Given the description of an element on the screen output the (x, y) to click on. 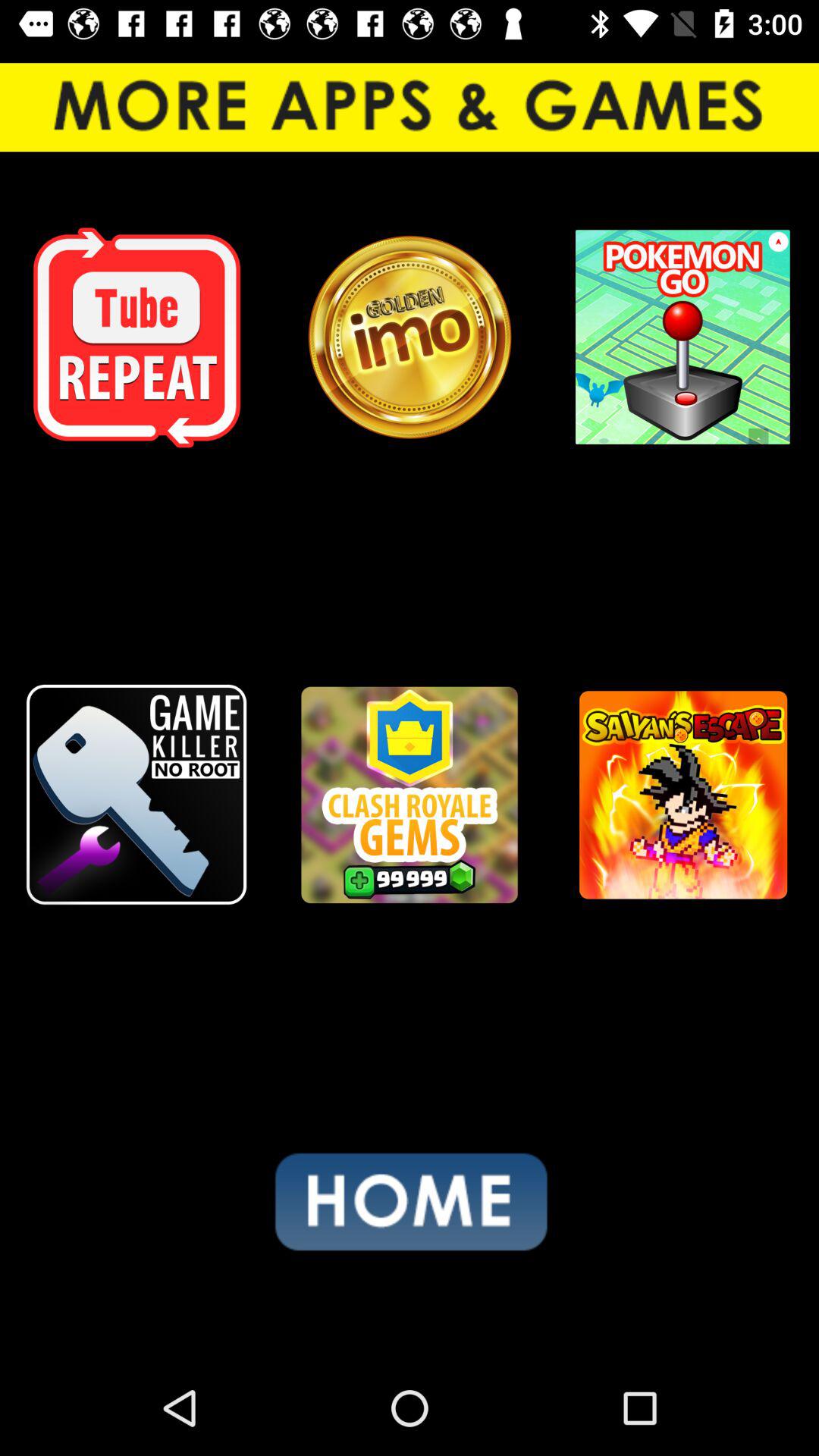
select game (682, 794)
